Given the description of an element on the screen output the (x, y) to click on. 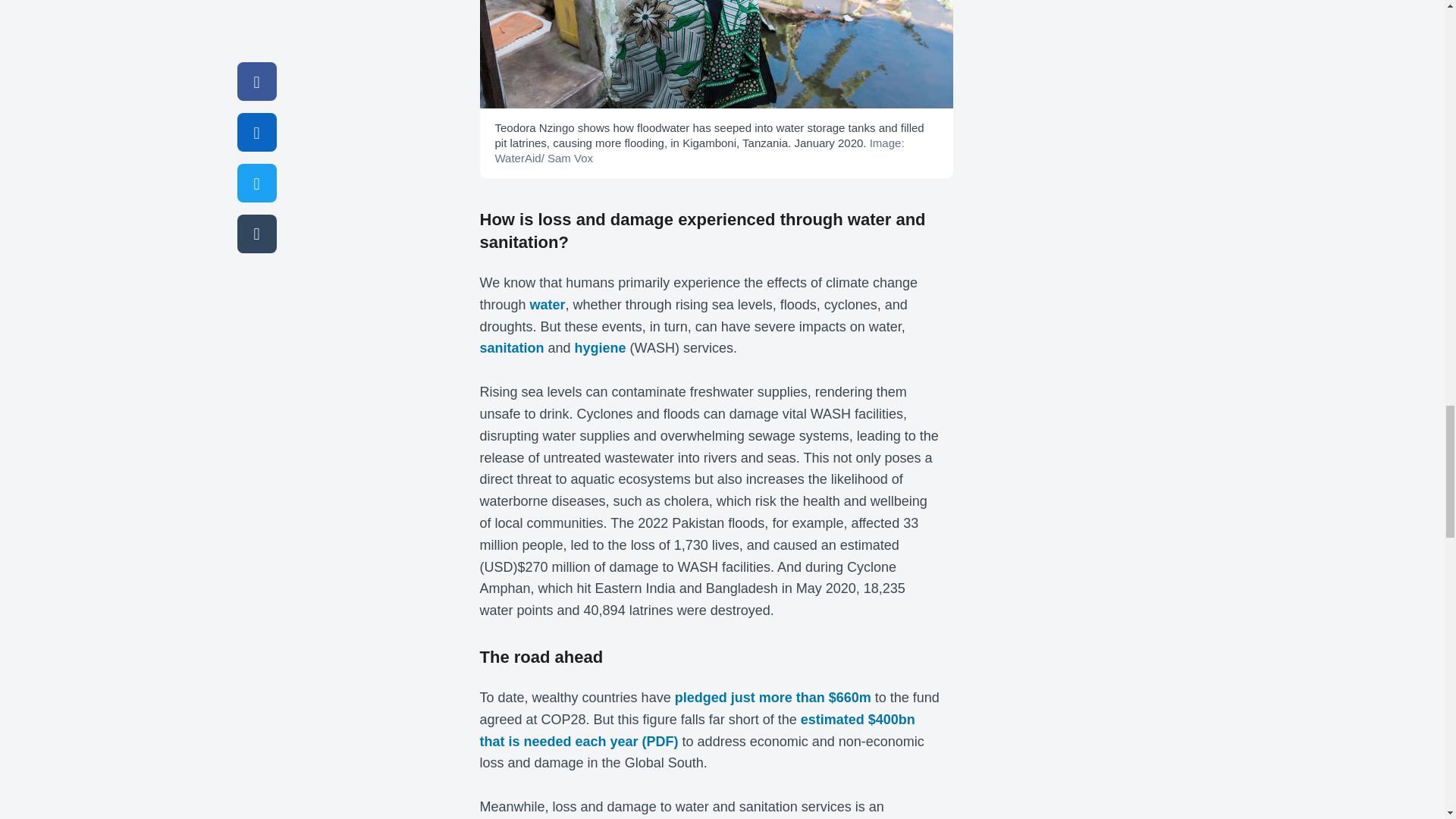
water (547, 304)
sanitation (511, 347)
hygiene (600, 347)
